Given the description of an element on the screen output the (x, y) to click on. 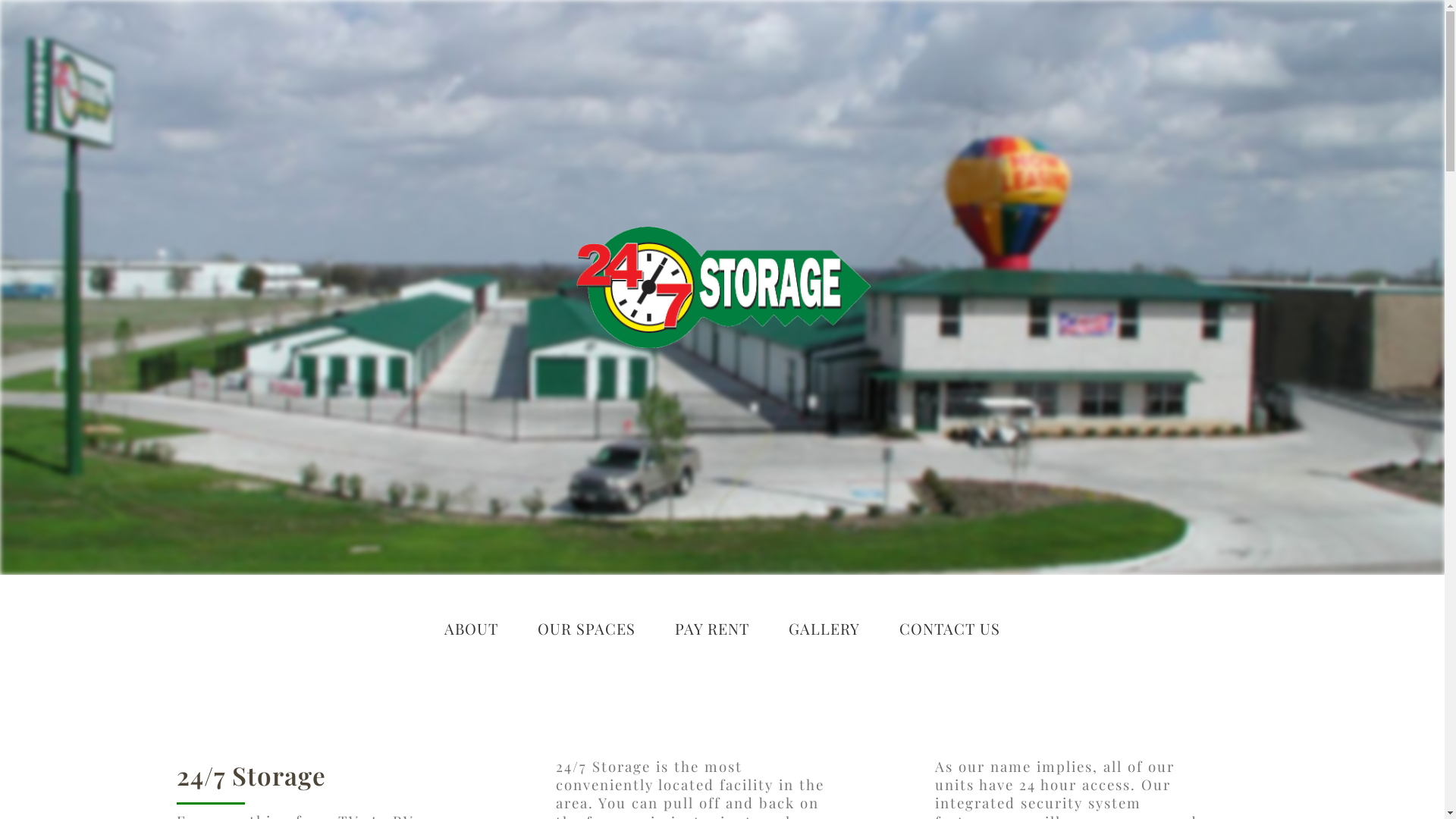
PAY RENT Element type: text (711, 628)
OUR SPACES Element type: text (586, 628)
ABOUT Element type: text (471, 628)
GALLERY Element type: text (823, 628)
CONTACT US Element type: text (949, 628)
